Given the description of an element on the screen output the (x, y) to click on. 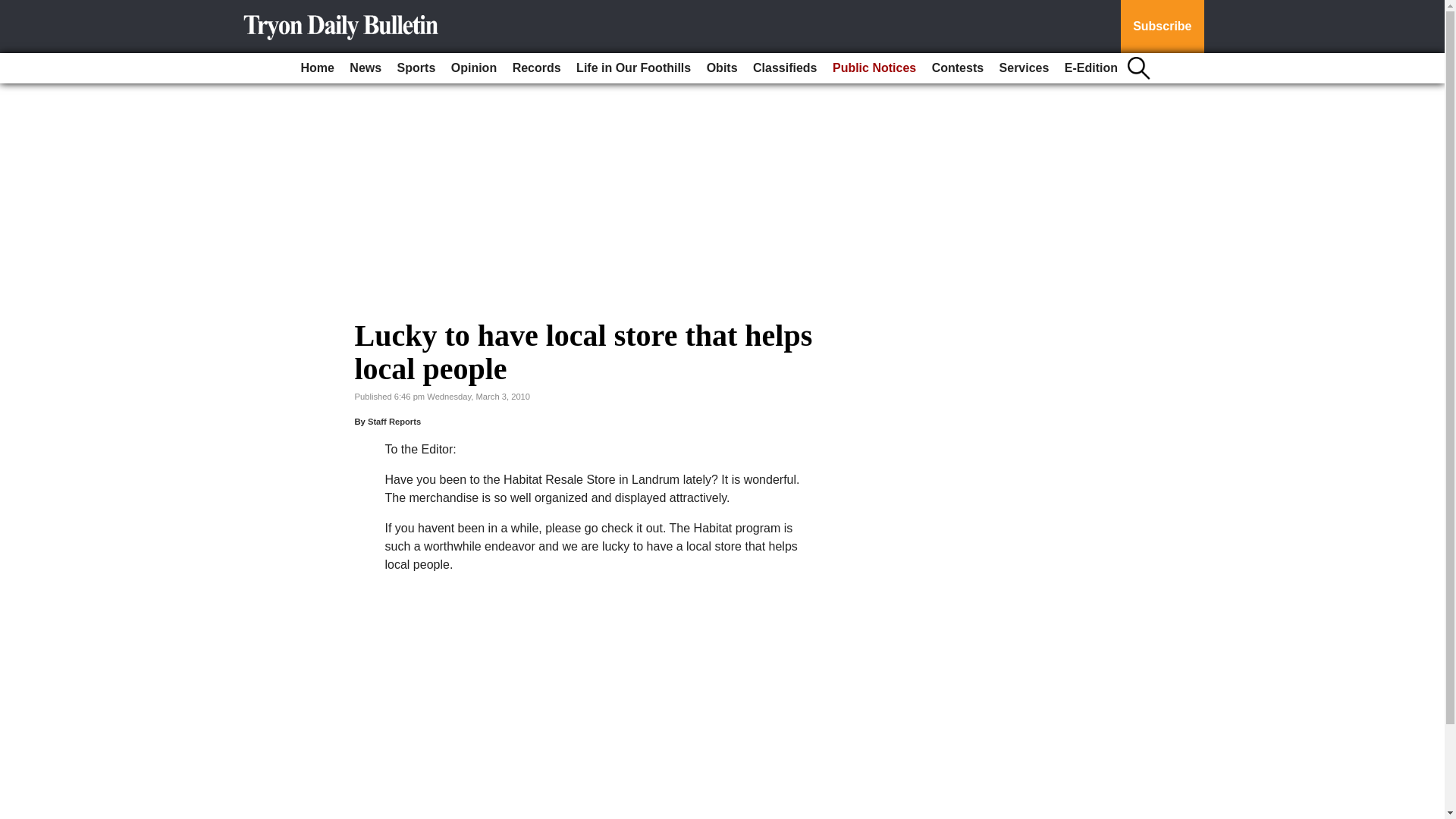
Public Notices (874, 68)
Classifieds (784, 68)
Staff Reports (394, 420)
Life in Our Foothills (633, 68)
Subscribe (1162, 26)
Opinion (473, 68)
Go (13, 9)
Home (316, 68)
Contests (958, 68)
Obits (722, 68)
